Given the description of an element on the screen output the (x, y) to click on. 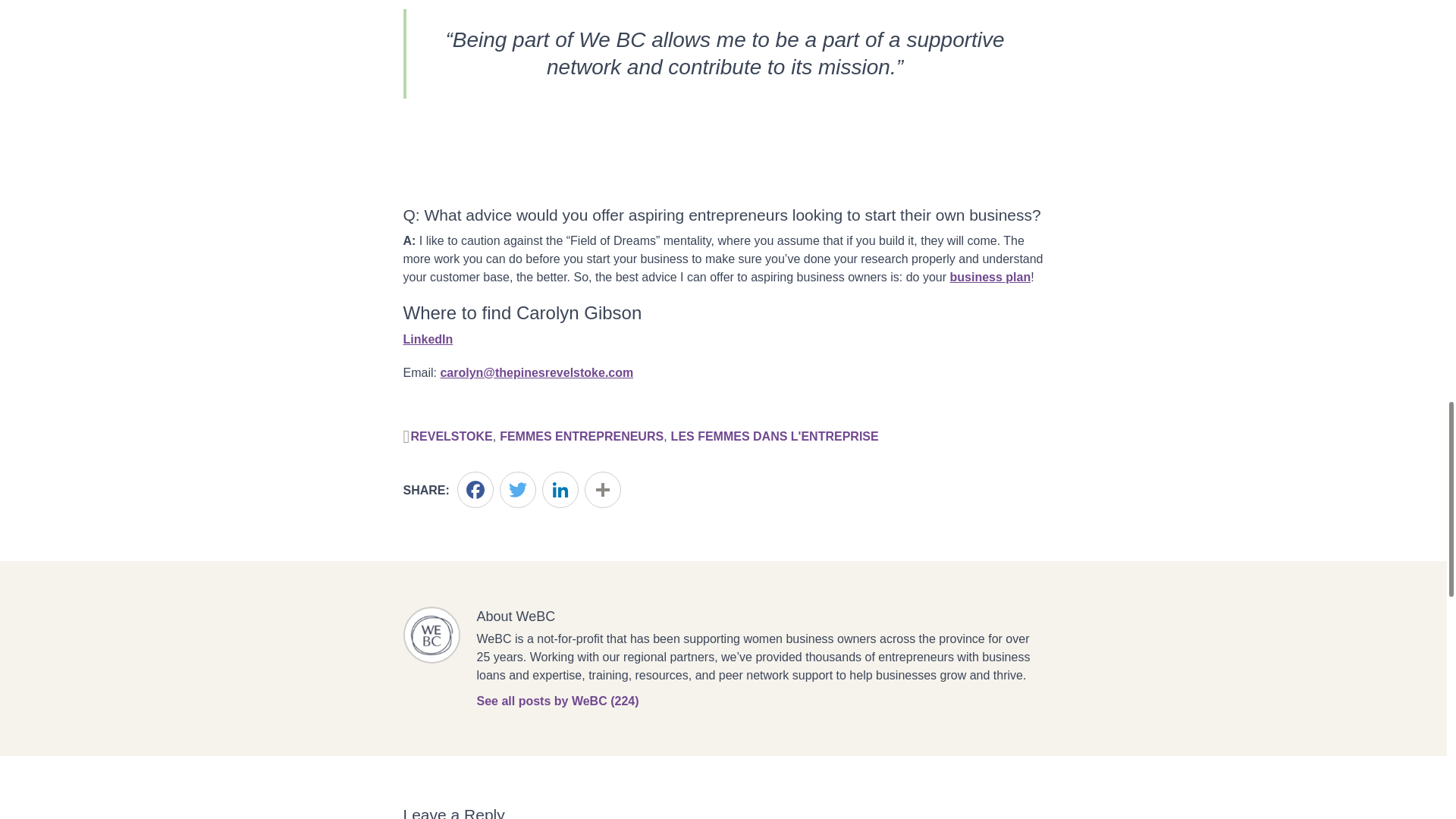
LinkedIn (559, 489)
Twitter (517, 489)
Facebook (475, 489)
